Given the description of an element on the screen output the (x, y) to click on. 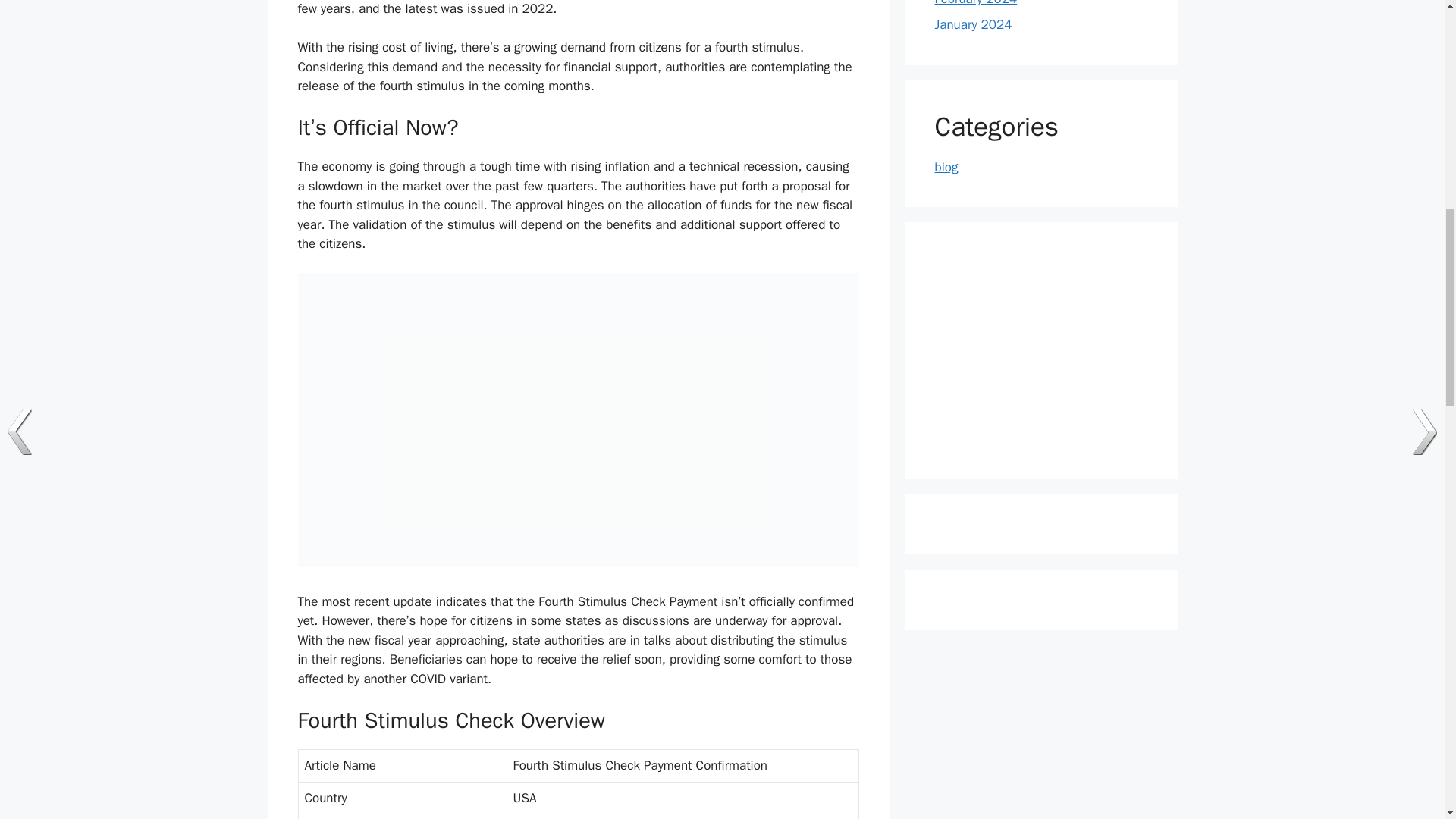
blog (946, 166)
January 2024 (972, 24)
February 2024 (975, 3)
